Given the description of an element on the screen output the (x, y) to click on. 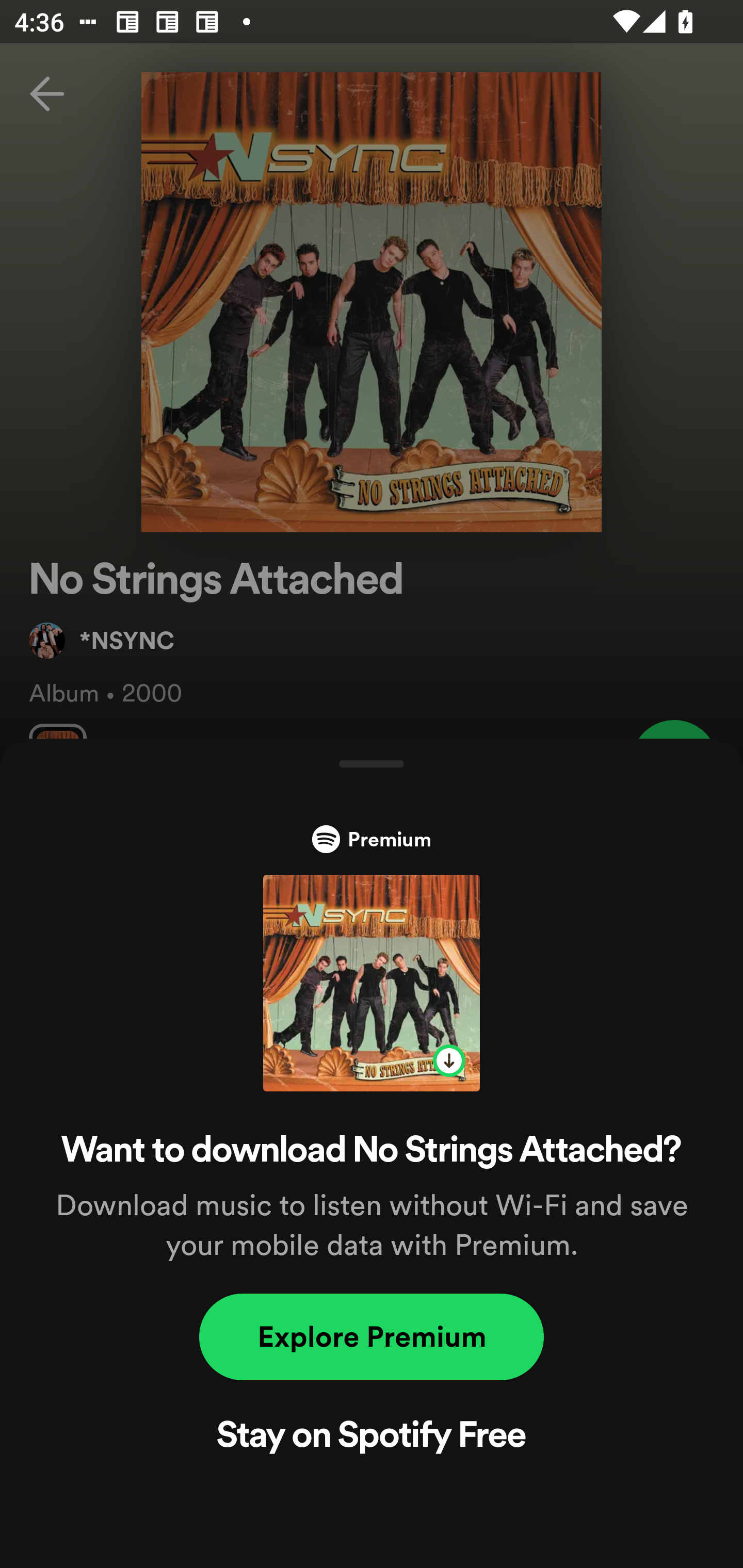
Explore Premium (371, 1336)
Stay on Spotify Free (371, 1437)
